Given the description of an element on the screen output the (x, y) to click on. 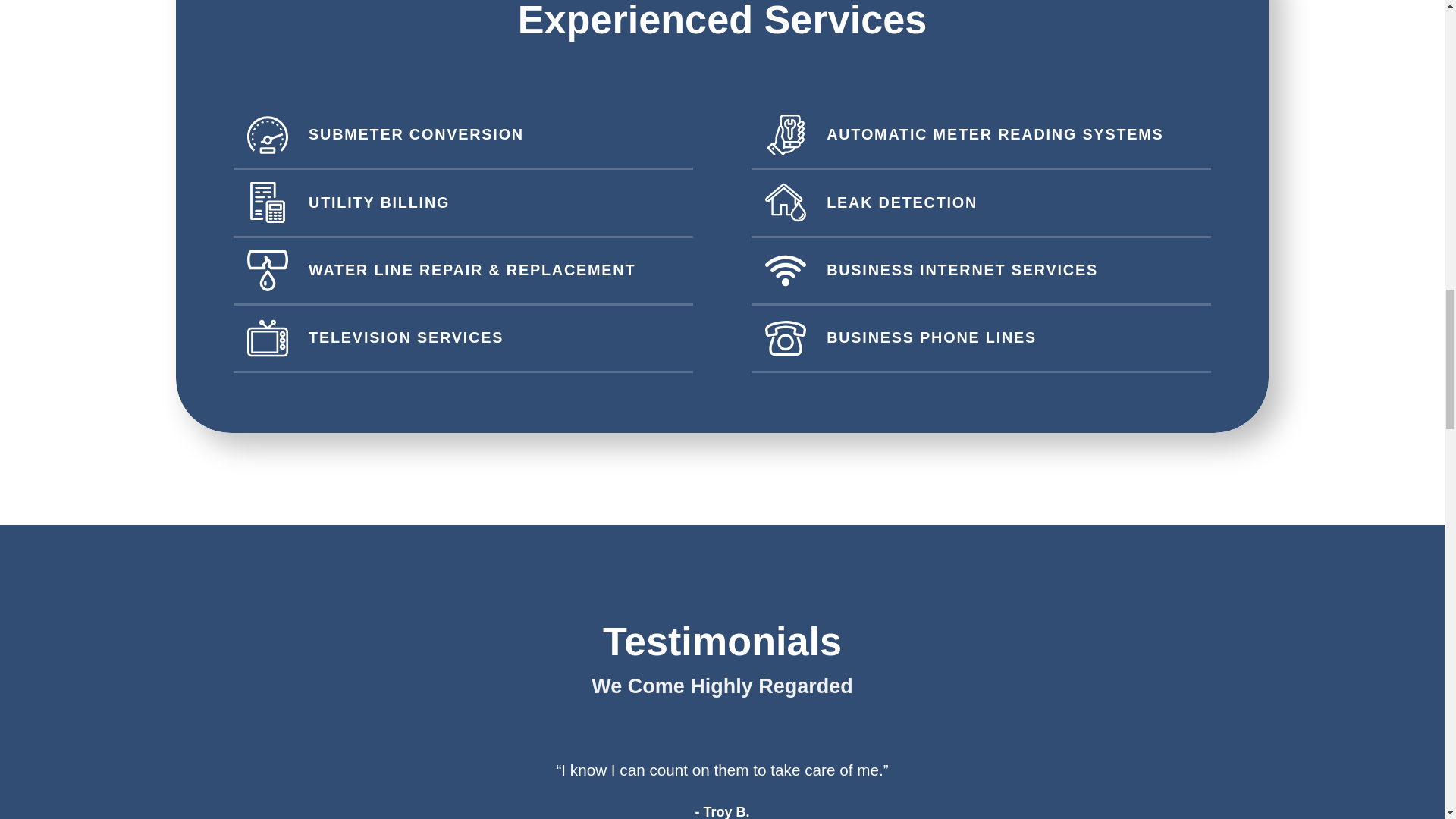
Submeter Conversion Icon (267, 134)
Utility Billing Icon (267, 201)
Automatic Meter Reading Systems Icon (785, 134)
Leak Detection Icon (785, 201)
